Given the description of an element on the screen output the (x, y) to click on. 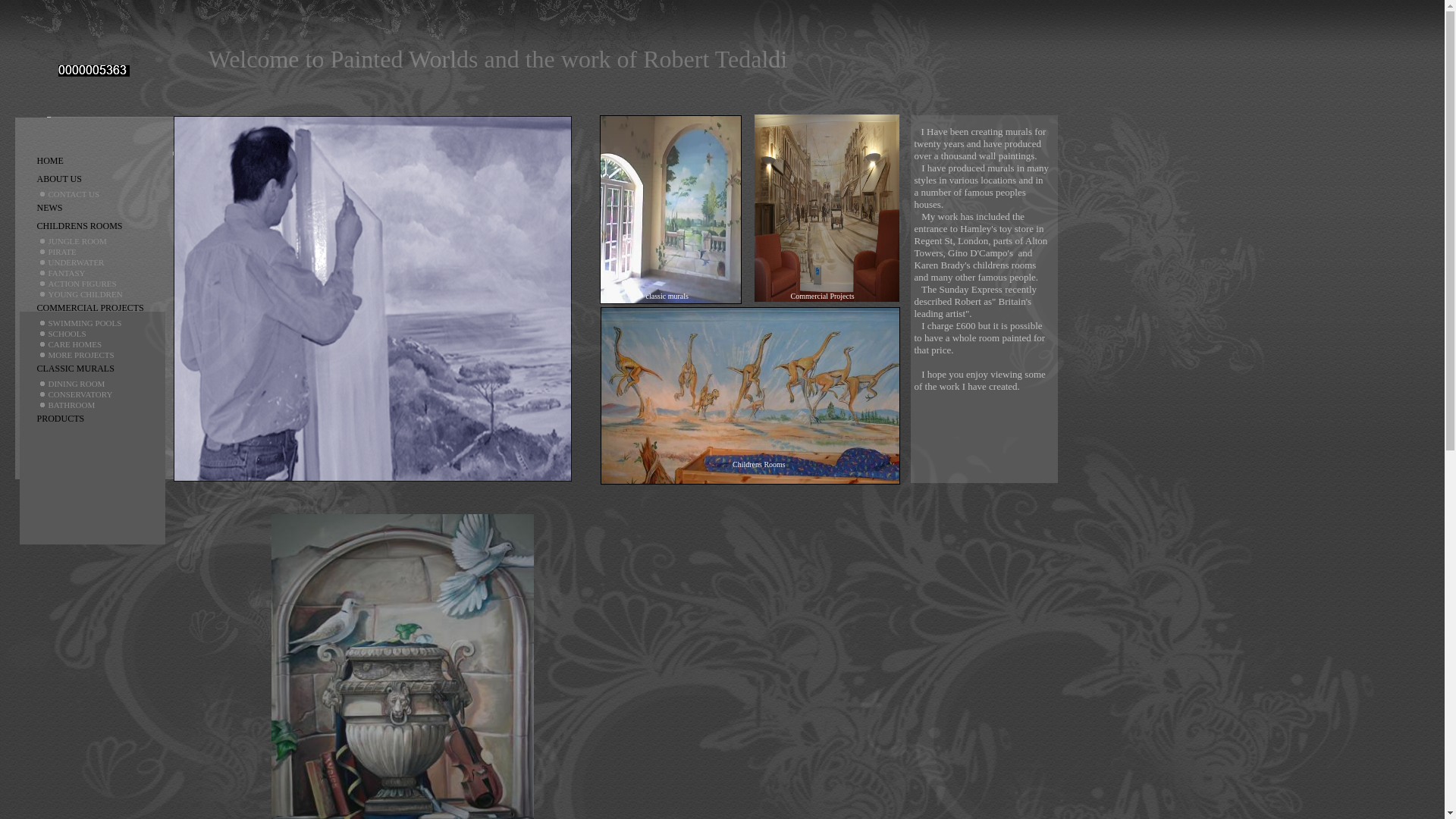
SWIMMING POOLS (98, 322)
ACTION FIGURES (98, 283)
PRODUCTS (98, 418)
PIRATE (98, 251)
ABOUT US (98, 178)
HOME (98, 160)
DINING ROOM (98, 383)
CLASSIC MURALS (98, 368)
JUNGLE ROOM (98, 240)
News (98, 208)
COMMERCIAL PROJECTS (98, 307)
Contact Us (98, 194)
NEWS (98, 208)
UNDERWATER (98, 261)
classic murals (667, 295)
